Given the description of an element on the screen output the (x, y) to click on. 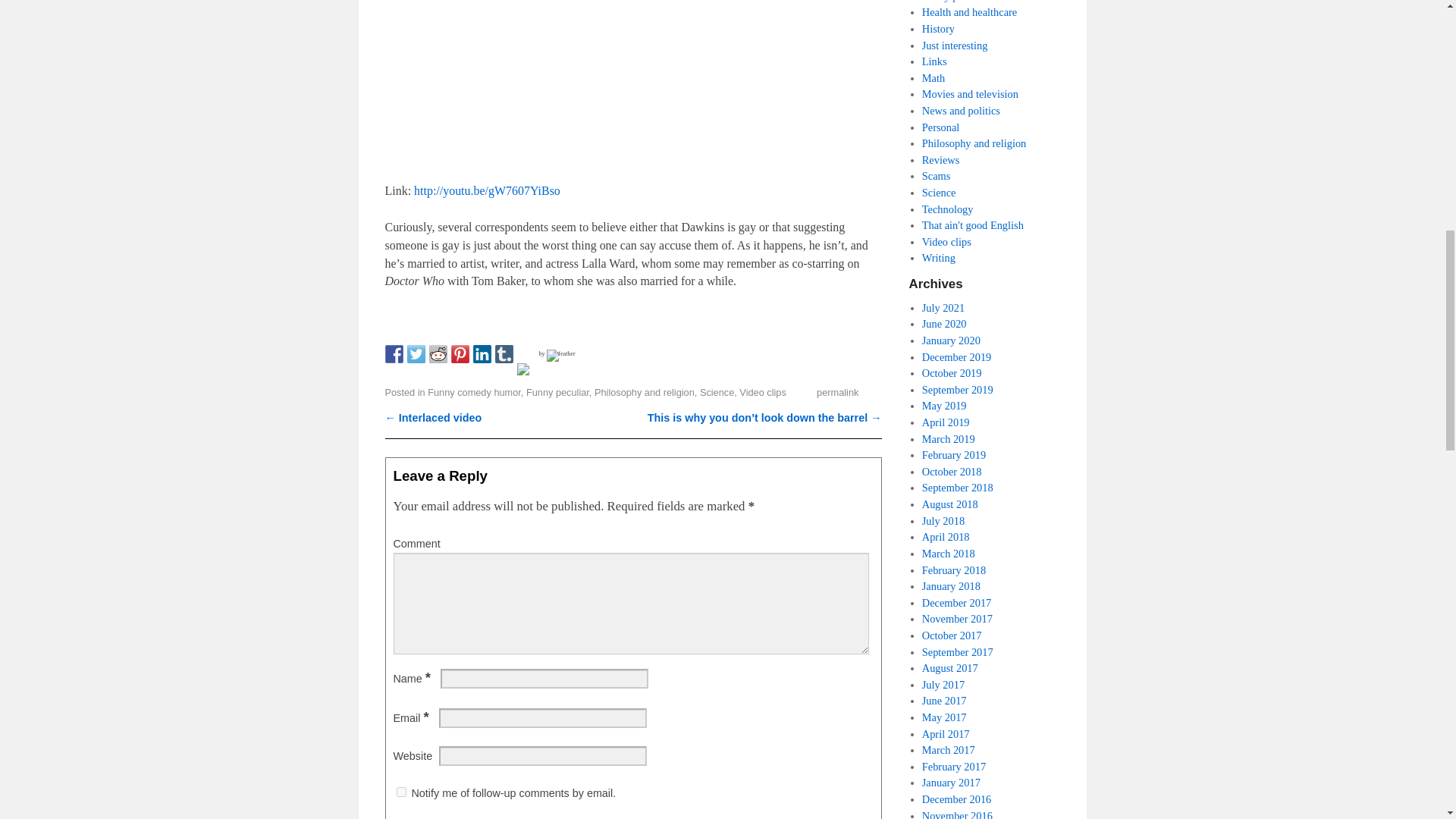
Share on Facebook (394, 353)
Pin it with Pinterest (458, 353)
Funny comedy humor (474, 392)
permalink (837, 392)
Share on Reddit (437, 353)
subscribe (401, 791)
Funny peculiar (557, 392)
Share on Twitter (415, 353)
by (556, 353)
Science (716, 392)
Philosophy and religion (644, 392)
Share on Linkedin (482, 353)
Video clips (762, 392)
